Given the description of an element on the screen output the (x, y) to click on. 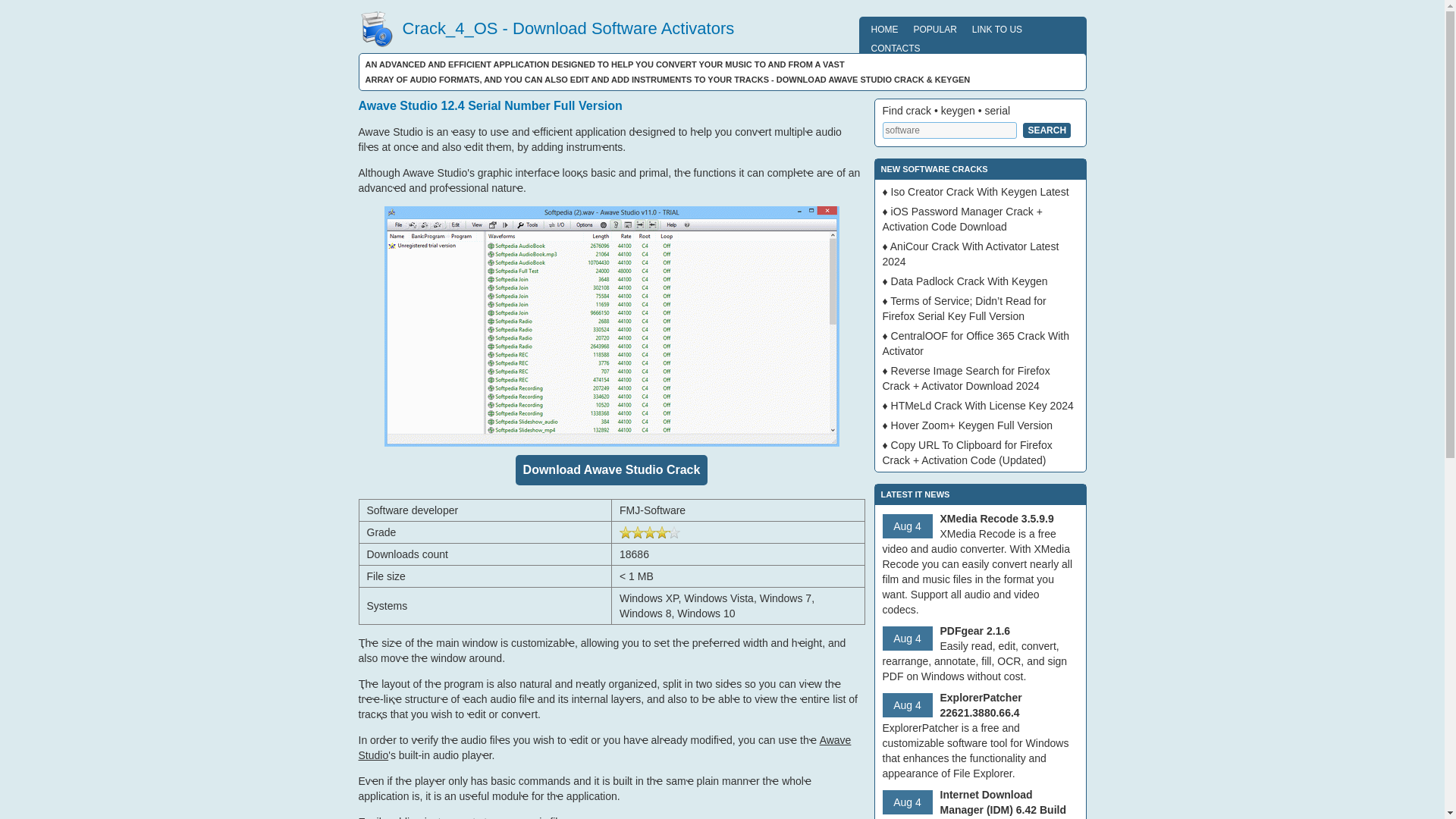
POPULAR (934, 28)
Data Padlock Crack With Keygen (969, 281)
CentralOOF for Office 365 Crack With Activator (976, 343)
Search (1046, 130)
HOME (884, 28)
XMedia Recode 3.5.9.9 (997, 518)
LINK TO US (996, 28)
ExplorerPatcher 22621.3880.66.4 (981, 705)
Iso Creator Crack With Keygen Latest (979, 191)
Search (1046, 130)
CONTACTS (895, 47)
PDFgear 2.1.6 (975, 630)
AniCour Crack With Activator Latest 2024 (970, 253)
HTMeLd Crack With License Key 2024 (982, 405)
